Given the description of an element on the screen output the (x, y) to click on. 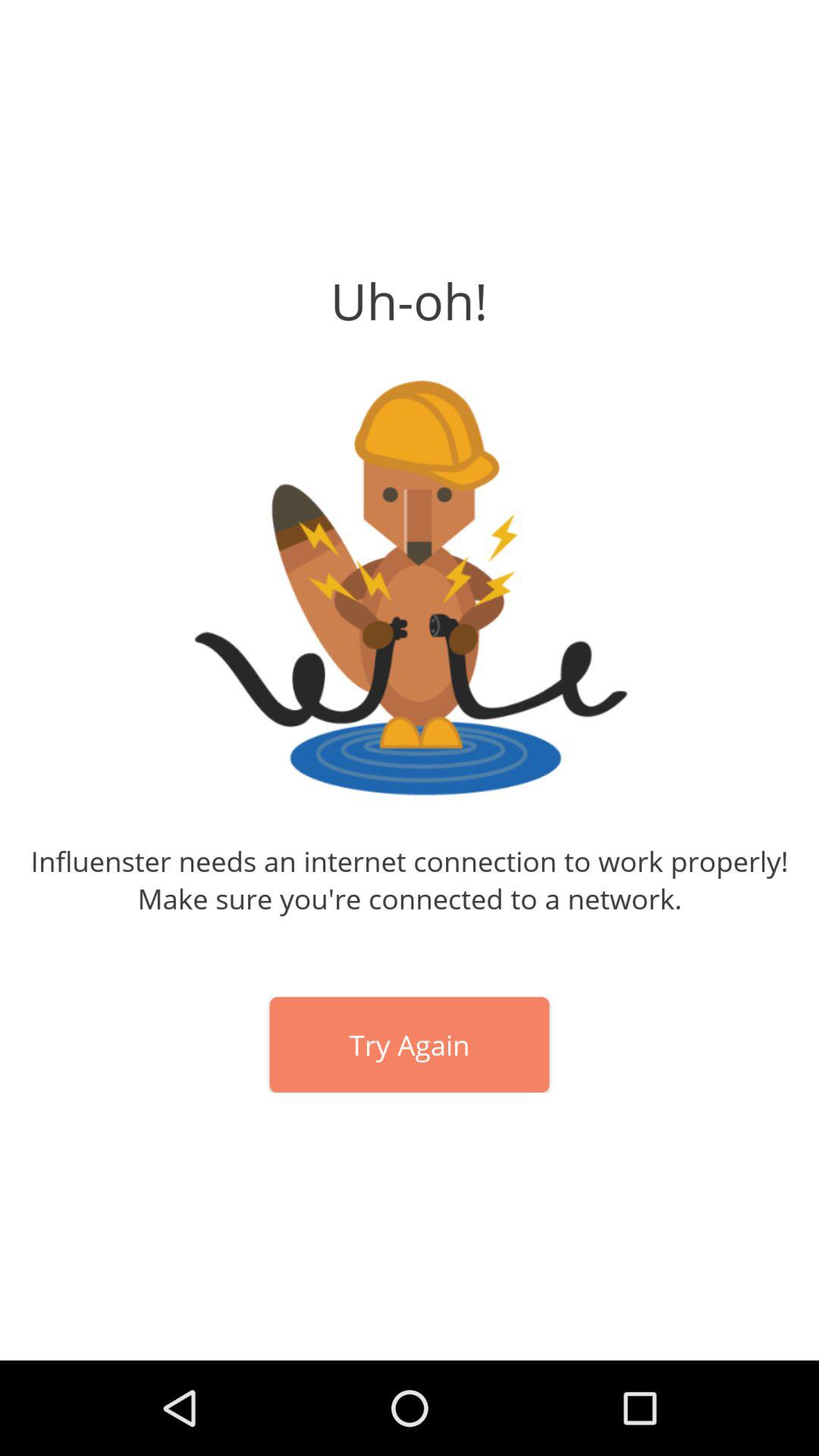
click on the image (409, 588)
